Given the description of an element on the screen output the (x, y) to click on. 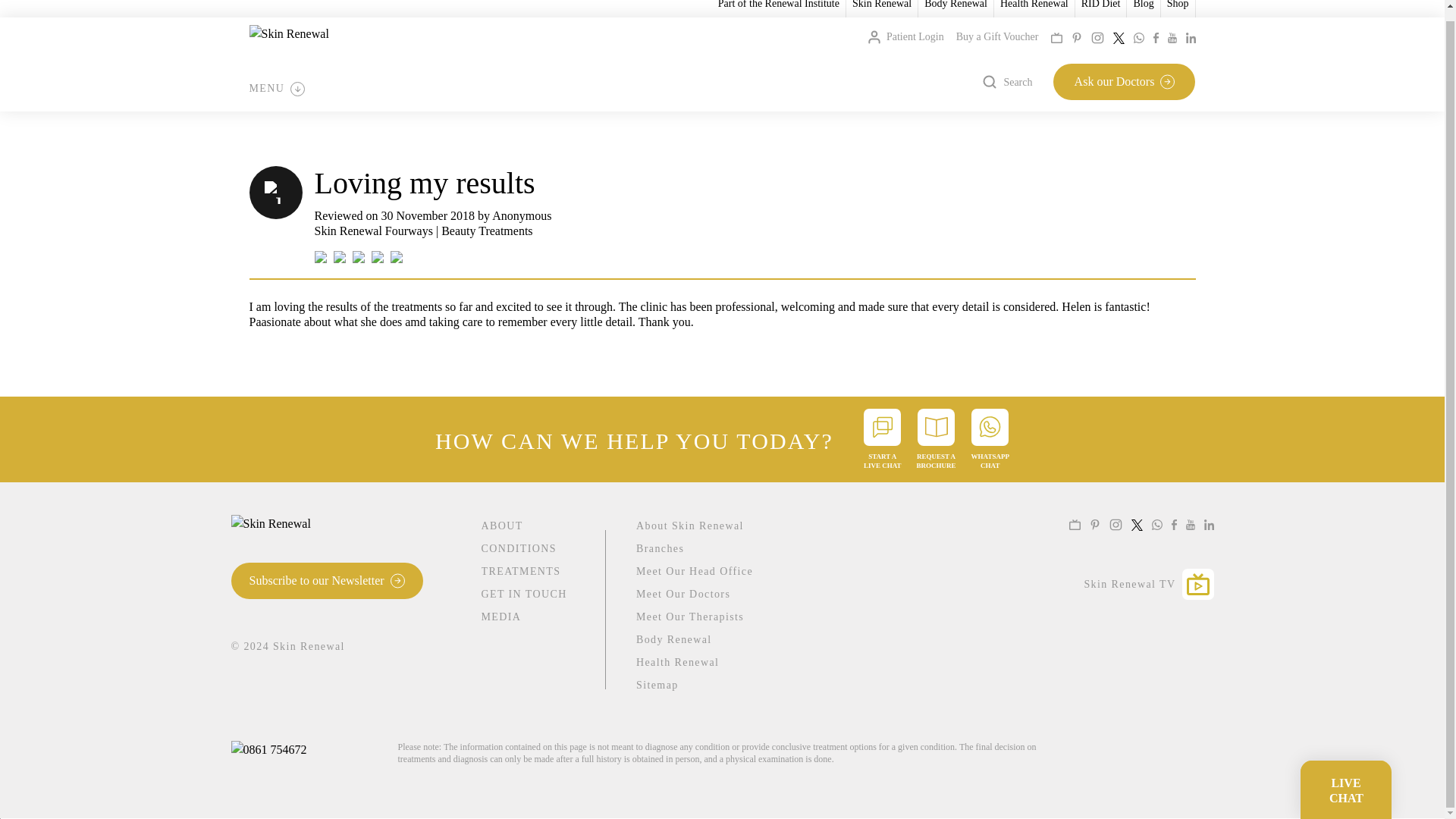
MENU (276, 87)
Search (1006, 82)
Shop (1178, 4)
Part of the Renewal Institute (778, 4)
Health Renewal (1034, 4)
Skin Renewal (881, 4)
Blog (1142, 4)
Body Renewal (955, 4)
Patient Login (905, 36)
RID Diet (1101, 4)
Buy a Gift Voucher (997, 36)
Ask our Doctors (1123, 81)
